Given the description of an element on the screen output the (x, y) to click on. 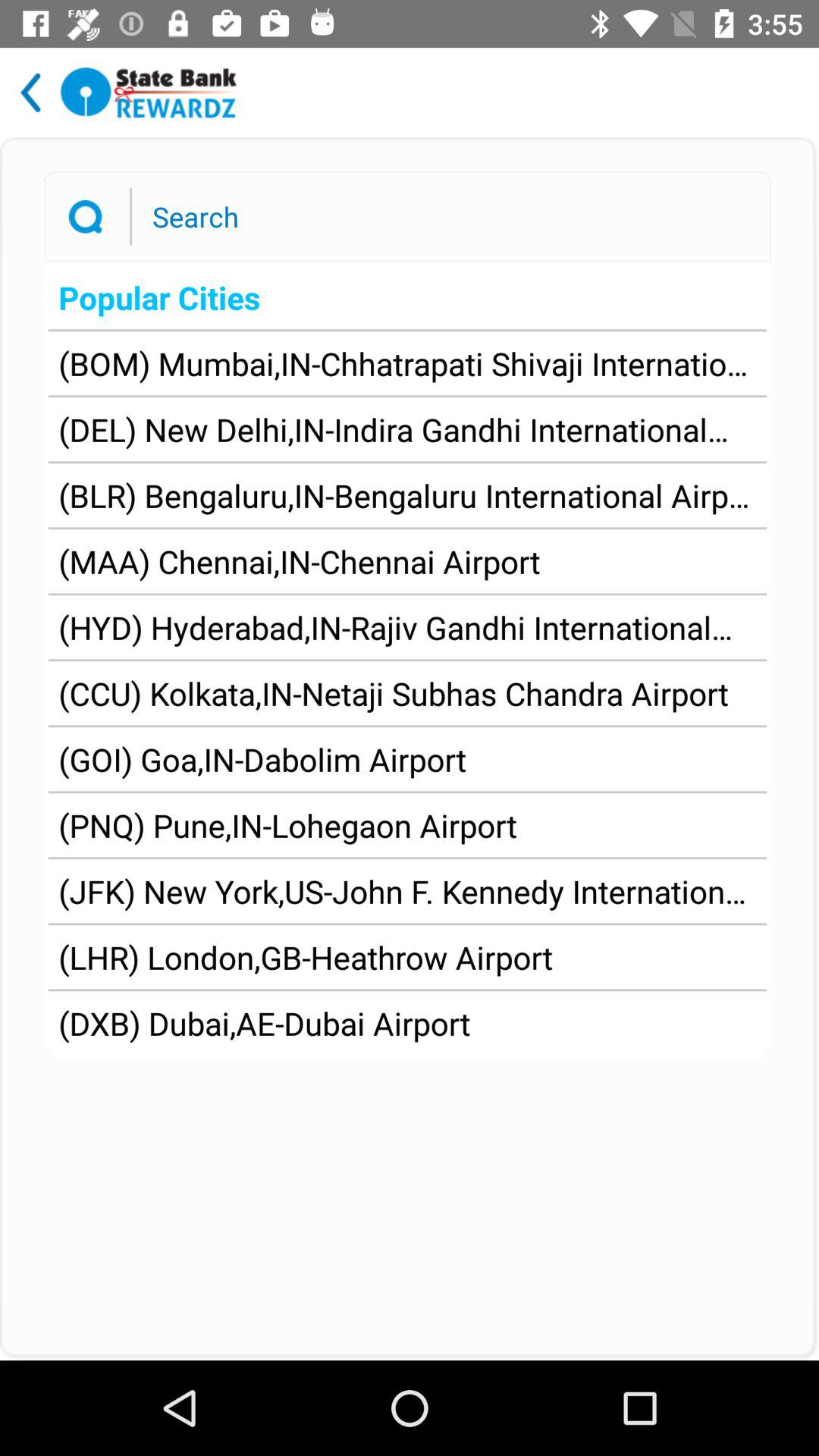
scroll to pnq pune in (287, 824)
